Given the description of an element on the screen output the (x, y) to click on. 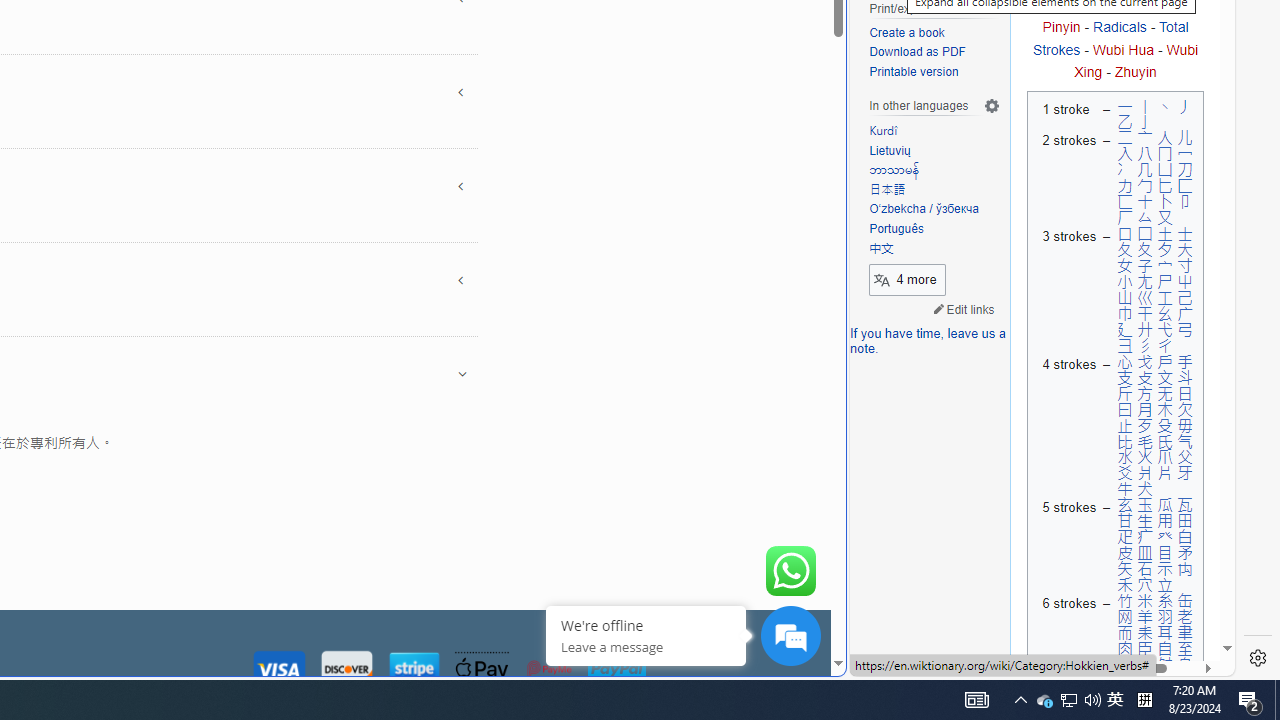
Wubi Xing (1136, 60)
